Given the description of an element on the screen output the (x, y) to click on. 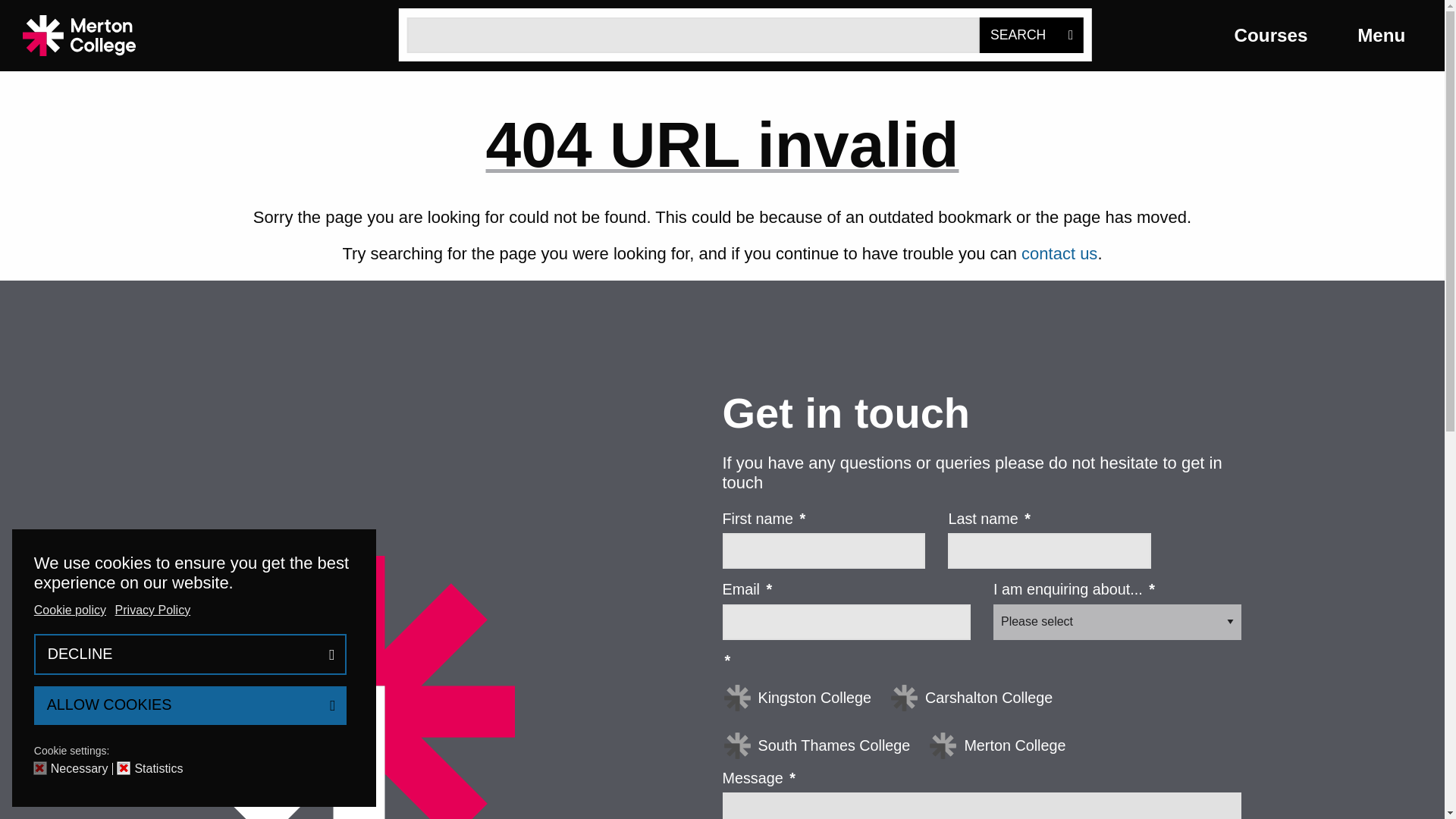
Privacy Policy (154, 610)
Go (1031, 35)
Necessary (81, 768)
Menu (1389, 35)
Statistics (160, 768)
Courses (1279, 35)
ALLOW COOKIES (190, 705)
Cookie policy (70, 610)
DECLINE (190, 653)
SEARCH (1031, 35)
contact us (1059, 253)
